Given the description of an element on the screen output the (x, y) to click on. 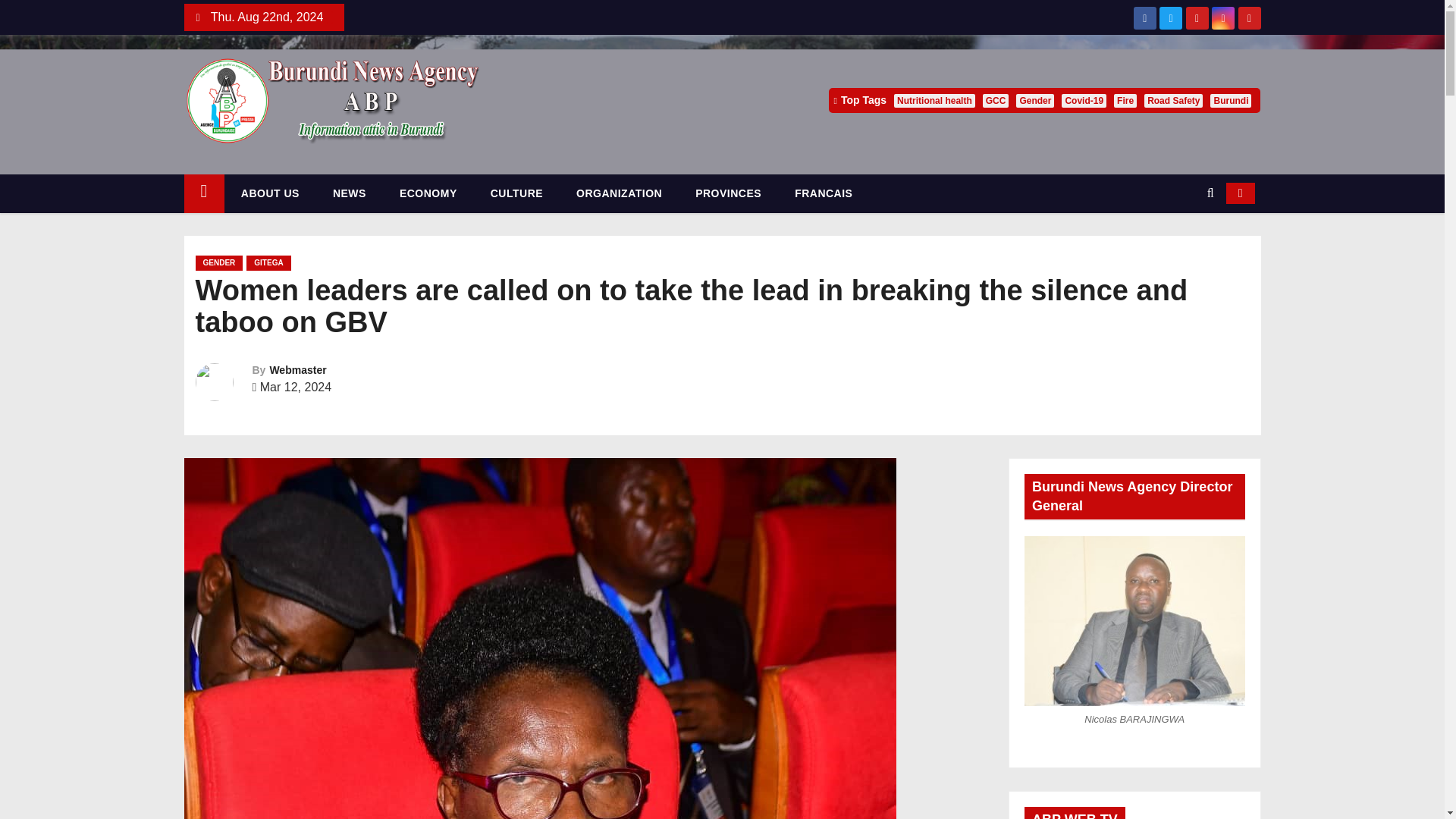
PROVINCES (727, 193)
GCC (995, 100)
PROVINCES (727, 193)
Home (203, 193)
Road Safety (1173, 100)
ECONOMY (428, 193)
Fire (1125, 100)
CULTURE (516, 193)
NEWS (348, 193)
Nutritional health (934, 100)
